Given the description of an element on the screen output the (x, y) to click on. 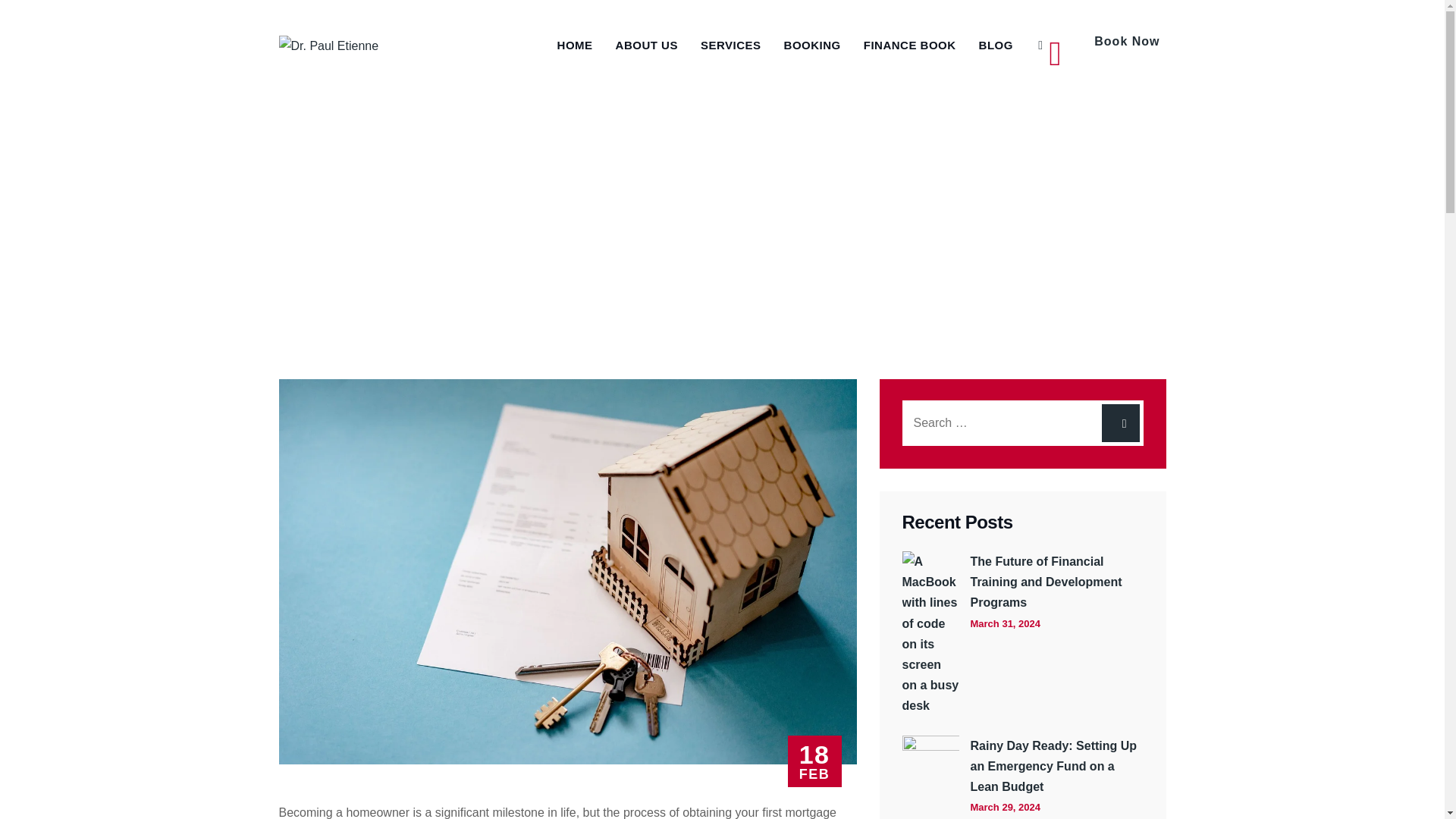
The Future of Financial Training and Development Programs (1056, 582)
Go to the Finances Category archives. (587, 245)
March 29, 2024 (1006, 807)
Go to Dr. Paul Etienne. (371, 245)
DR. PAUL ETIENNE (371, 245)
Go to Blog Classic. (492, 245)
FINANCE BOOK (909, 45)
March 31, 2024 (1006, 623)
FINANCES (587, 245)
Dr. Paul Etienne (328, 46)
BLOG CLASSIC (492, 245)
Book Now (1107, 45)
